Given the description of an element on the screen output the (x, y) to click on. 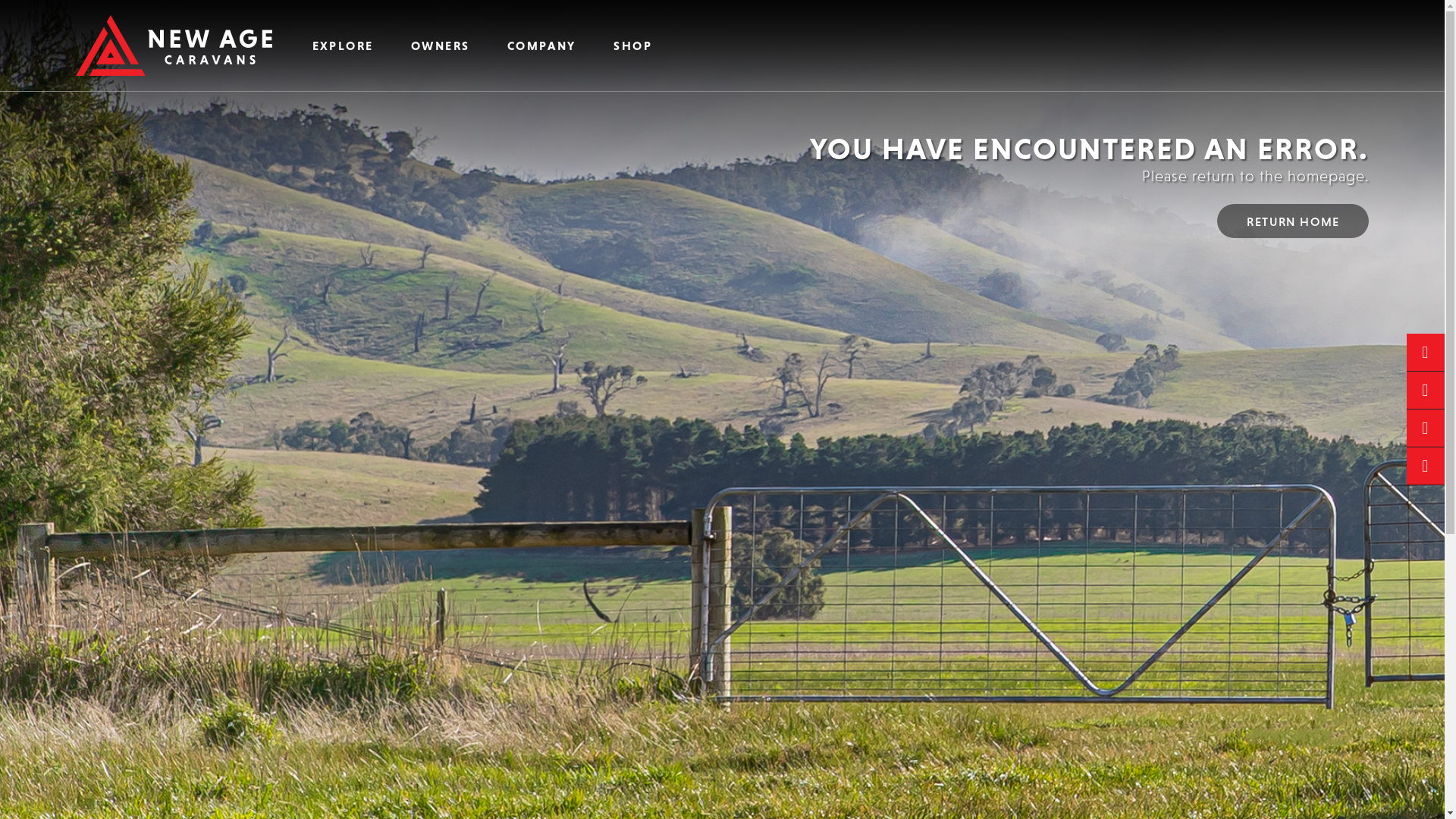
RETURN HOME Element type: text (1292, 220)
OWNERS Element type: text (440, 45)
EXPLORE Element type: text (342, 45)
COMPANY Element type: text (541, 45)
SHOP Element type: text (633, 45)
